Given the description of an element on the screen output the (x, y) to click on. 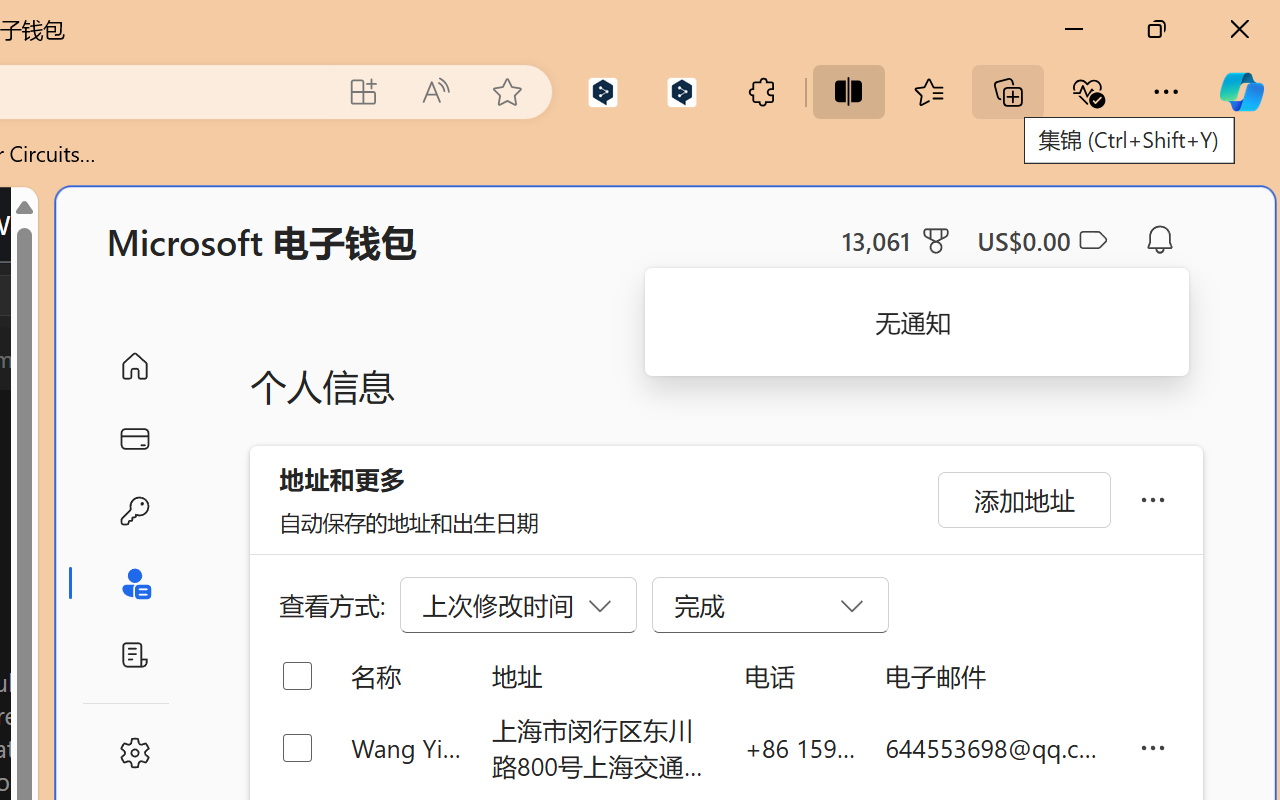
Class: actions-container (94, 295)
